Given the description of an element on the screen output the (x, y) to click on. 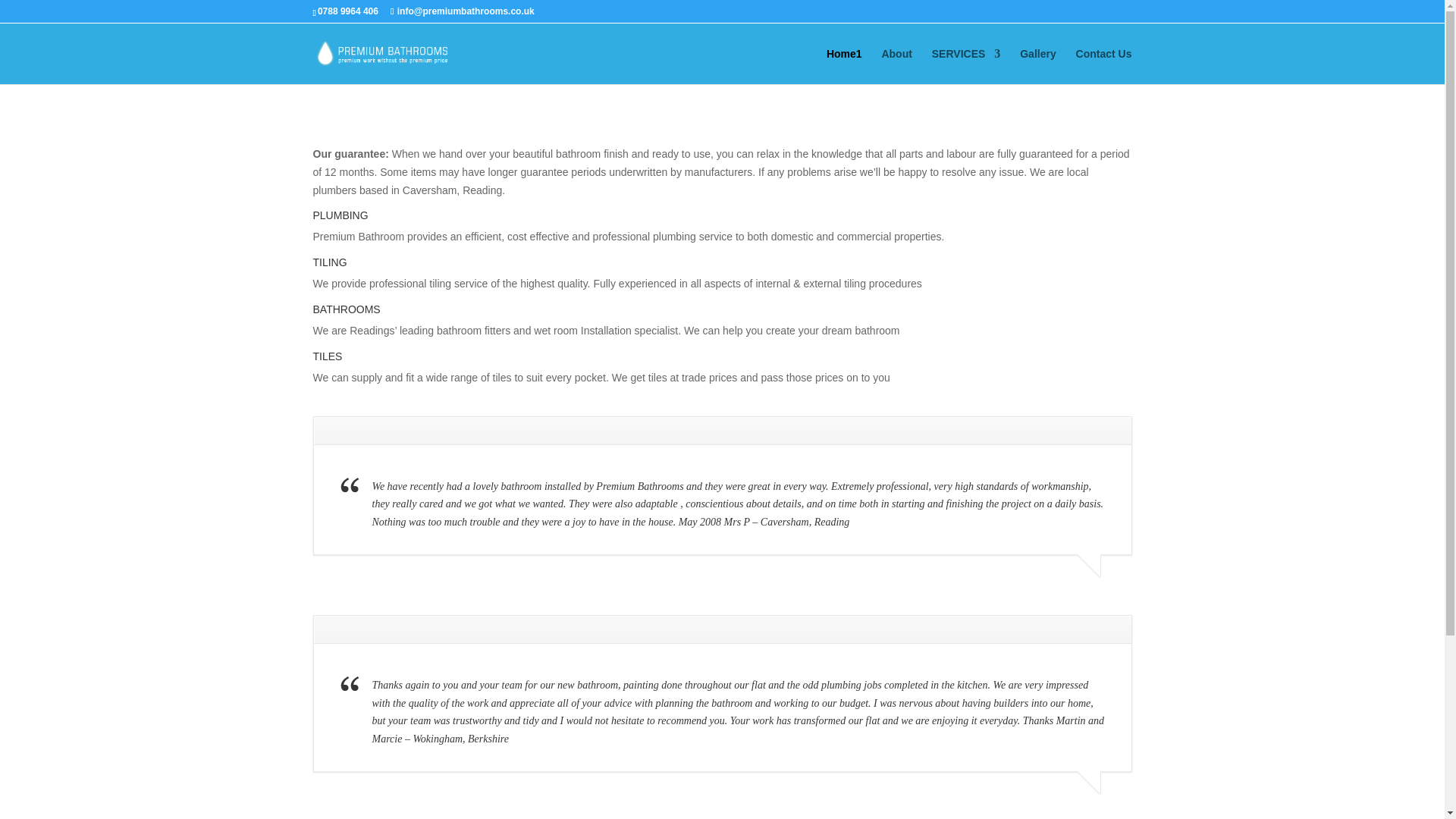
SERVICES (966, 66)
Gallery (1037, 66)
Home1 (844, 66)
Contact Us (1103, 66)
